Given the description of an element on the screen output the (x, y) to click on. 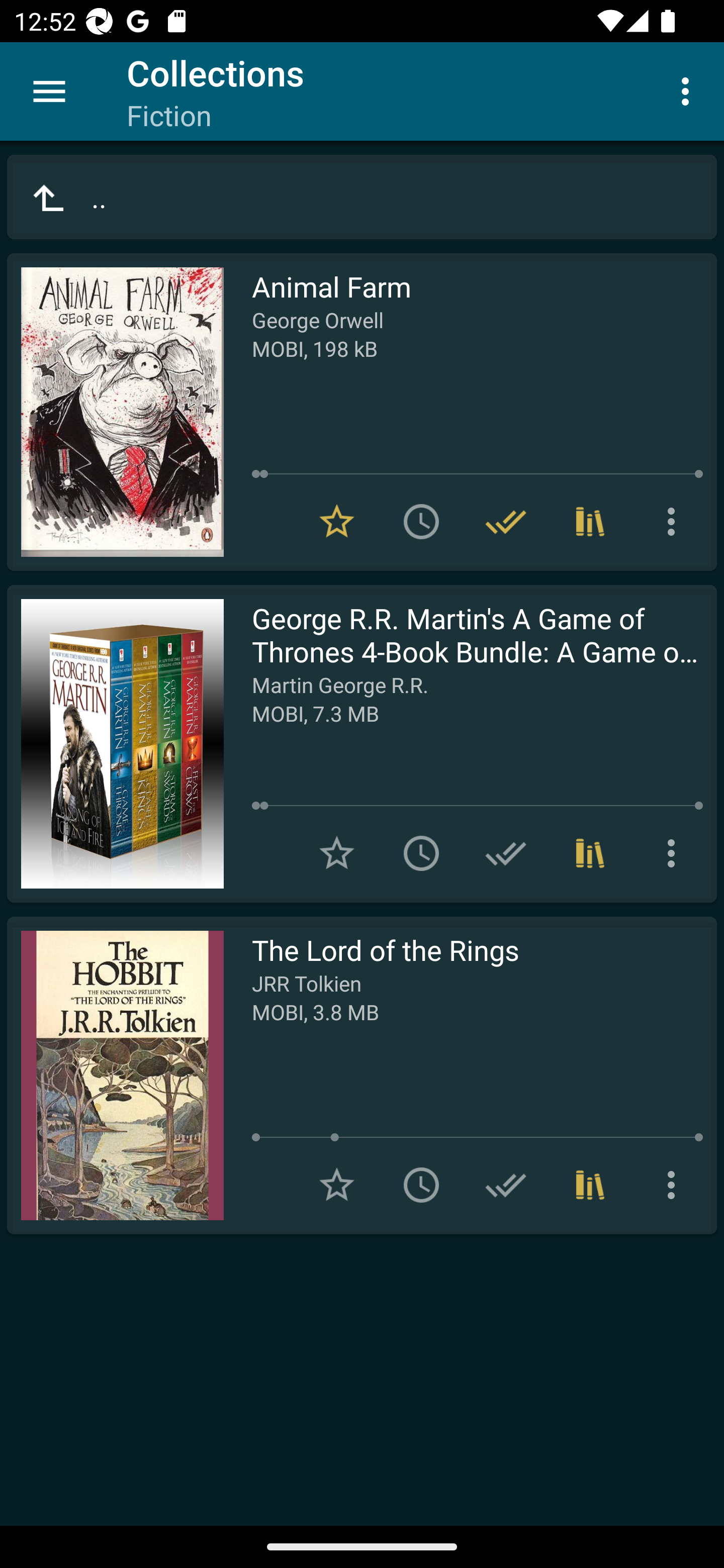
Menu (49, 91)
More options (688, 90)
.. (361, 197)
Read Animal Farm (115, 412)
Remove from Favorites (336, 521)
Add to To read (421, 521)
Remove from Have read (505, 521)
Collections (2) (590, 521)
More options (674, 521)
Add to Favorites (336, 852)
Add to To read (421, 852)
Add to Have read (505, 852)
Collections (1) (590, 852)
More options (674, 852)
Read The Lord of the Rings (115, 1075)
Add to Favorites (336, 1185)
Add to To read (421, 1185)
Add to Have read (505, 1185)
Collections (1) (590, 1185)
More options (674, 1185)
